Given the description of an element on the screen output the (x, y) to click on. 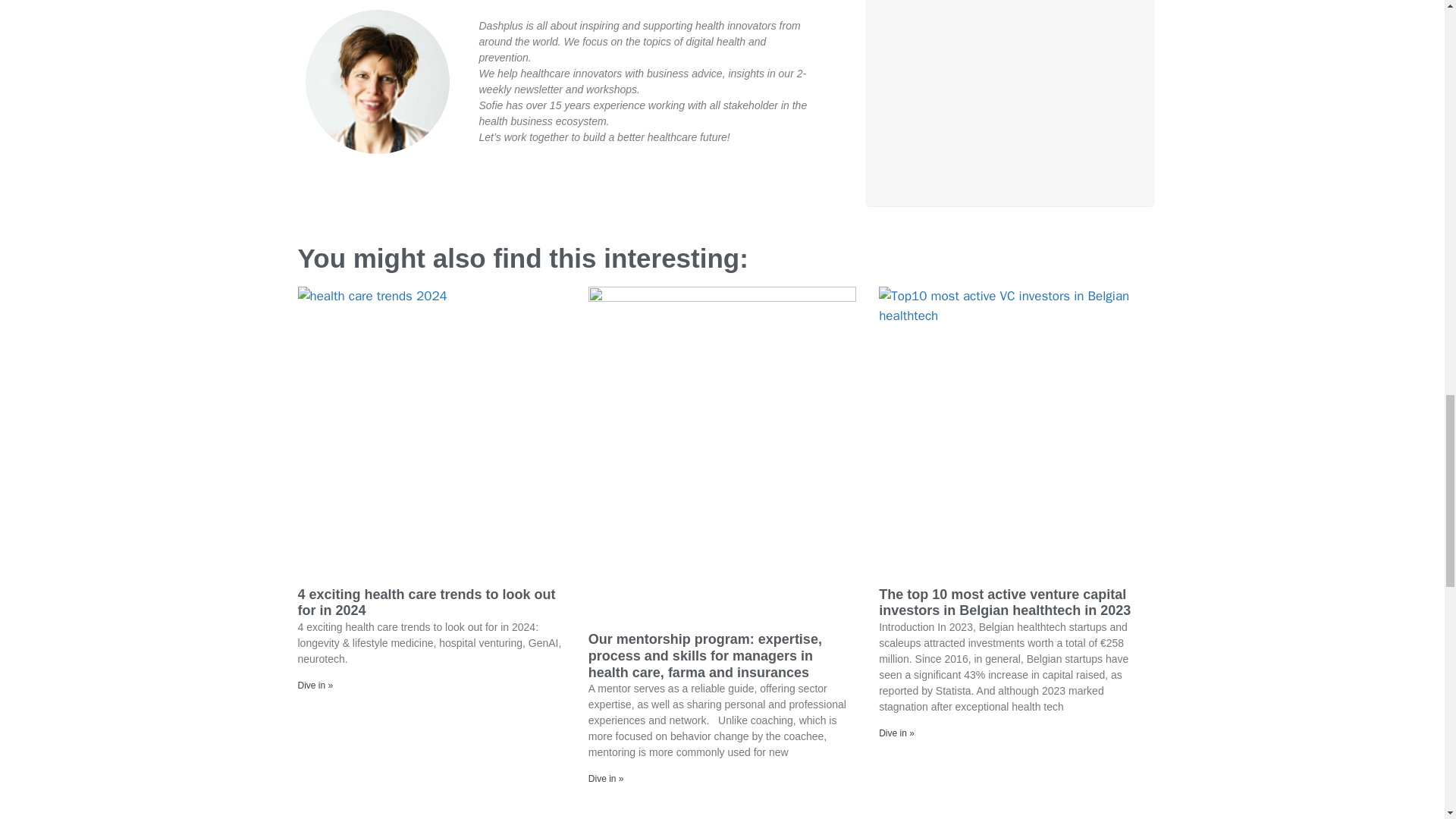
4 exciting health care trends to look out for in 2024 (425, 603)
